Given the description of an element on the screen output the (x, y) to click on. 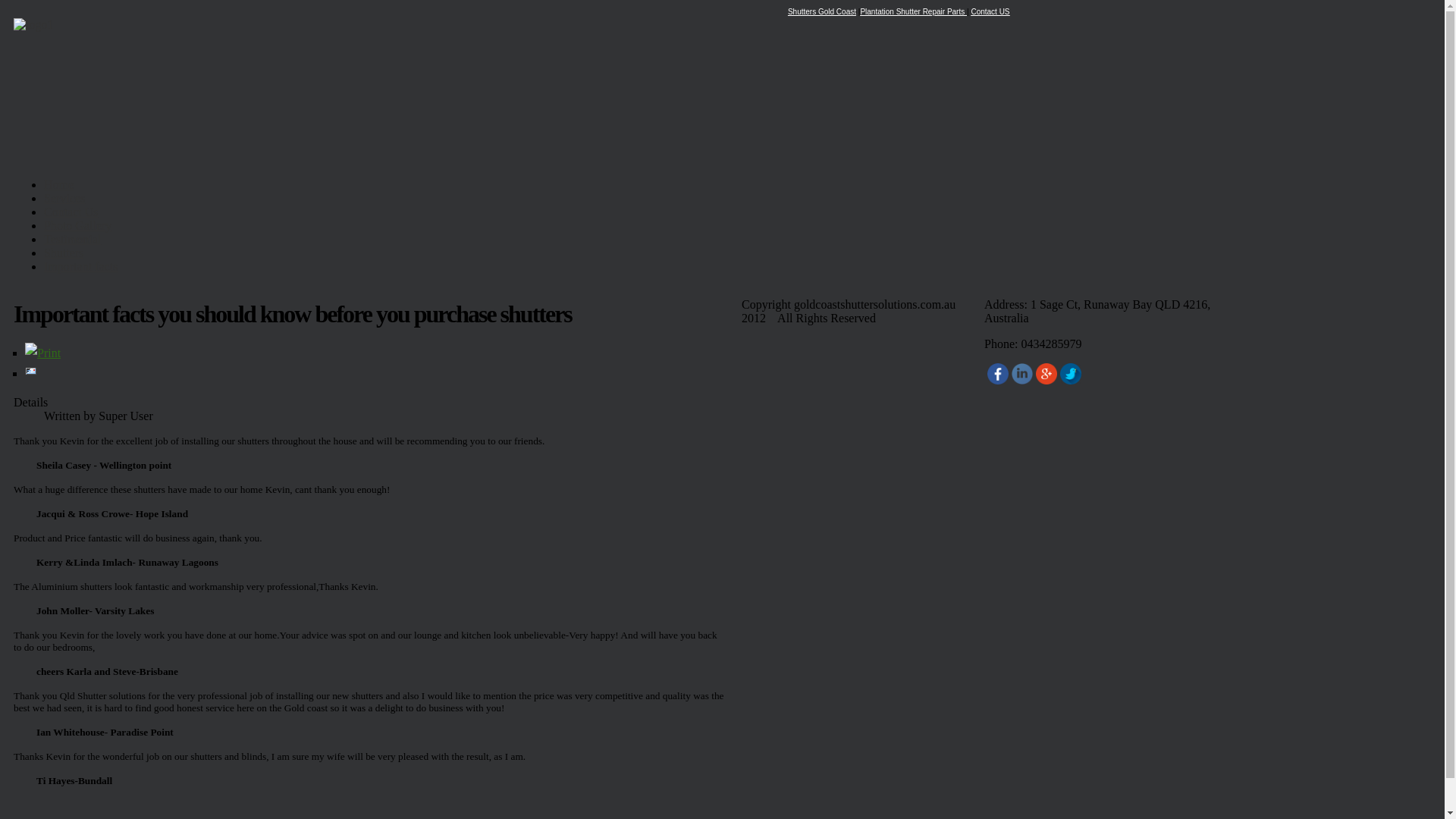
Important facts Element type: text (80, 266)
Contact US Element type: text (989, 11)
Photo Gallery Element type: text (77, 225)
Shutters Gold Coast Element type: text (821, 11)
Shutters Element type: text (63, 252)
Contact Us Element type: text (70, 211)
Plantation Shutter Repair Parts Element type: text (912, 11)
Testimonial Element type: text (71, 238)
Home Element type: text (58, 184)
Print Element type: hover (42, 352)
Email Element type: hover (31, 373)
Services Element type: text (63, 197)
